Given the description of an element on the screen output the (x, y) to click on. 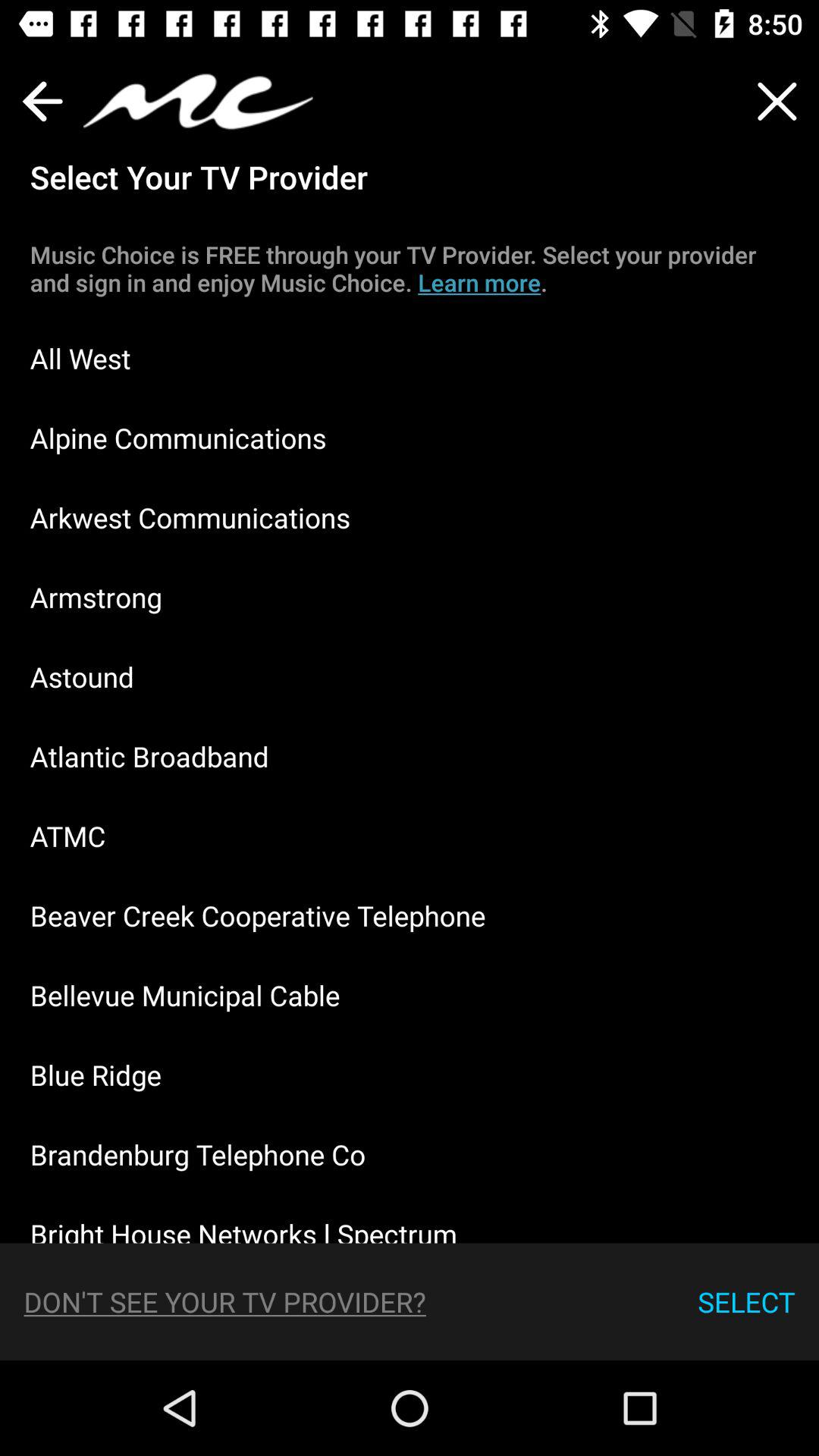
jump to the don t see icon (224, 1301)
